Given the description of an element on the screen output the (x, y) to click on. 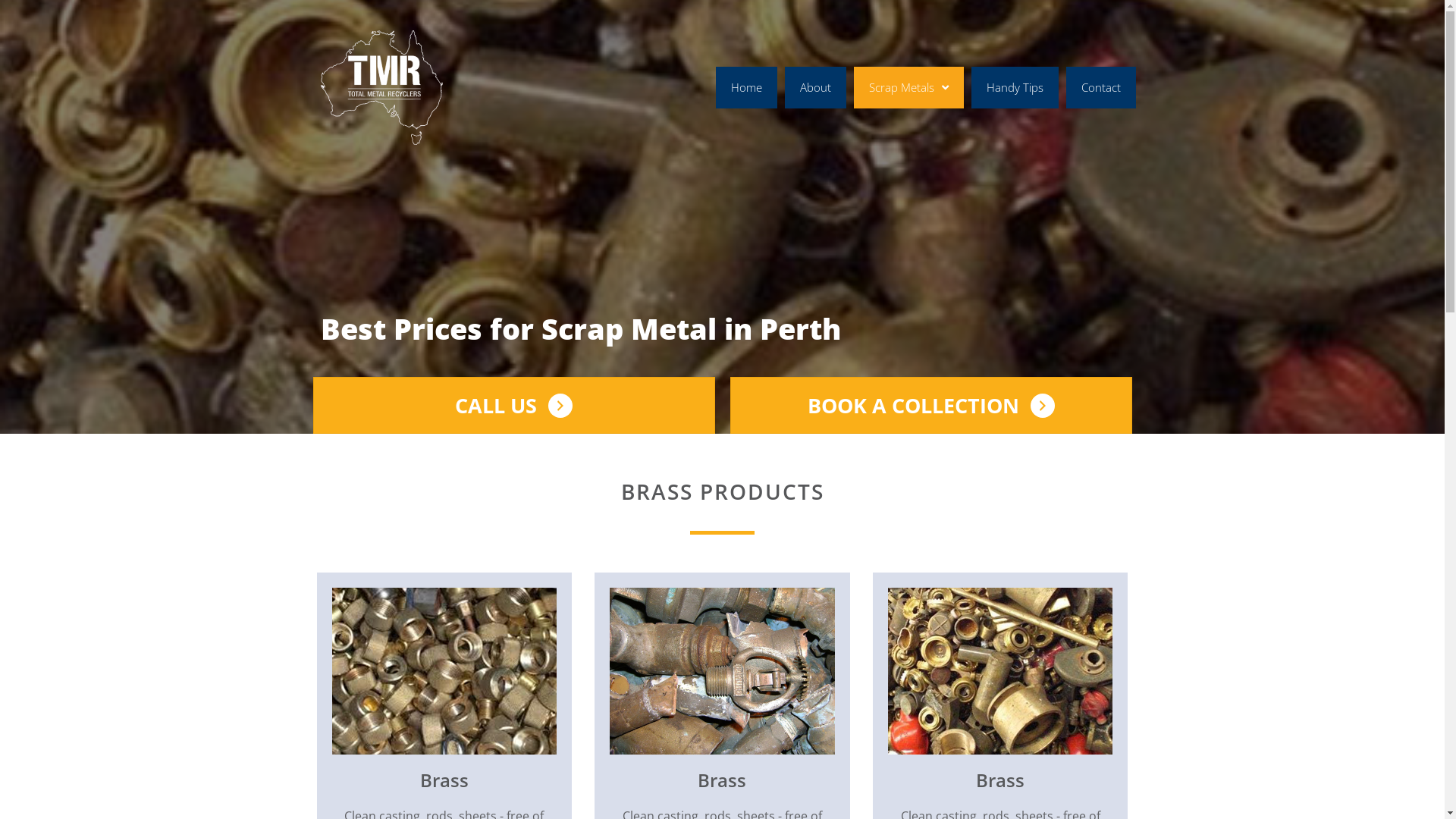
BOOK A COLLECTION Element type: text (930, 404)
Brass 2 Element type: hover (721, 670)
About Element type: text (815, 87)
Scrap Metals Element type: text (908, 87)
Brass 1 Element type: hover (444, 670)
Brass 3 Element type: hover (1000, 670)
CALL US Element type: text (513, 404)
Handy Tips Element type: text (1014, 87)
Contact Element type: text (1100, 87)
logo Element type: hover (381, 87)
Home Element type: text (746, 87)
